Given the description of an element on the screen output the (x, y) to click on. 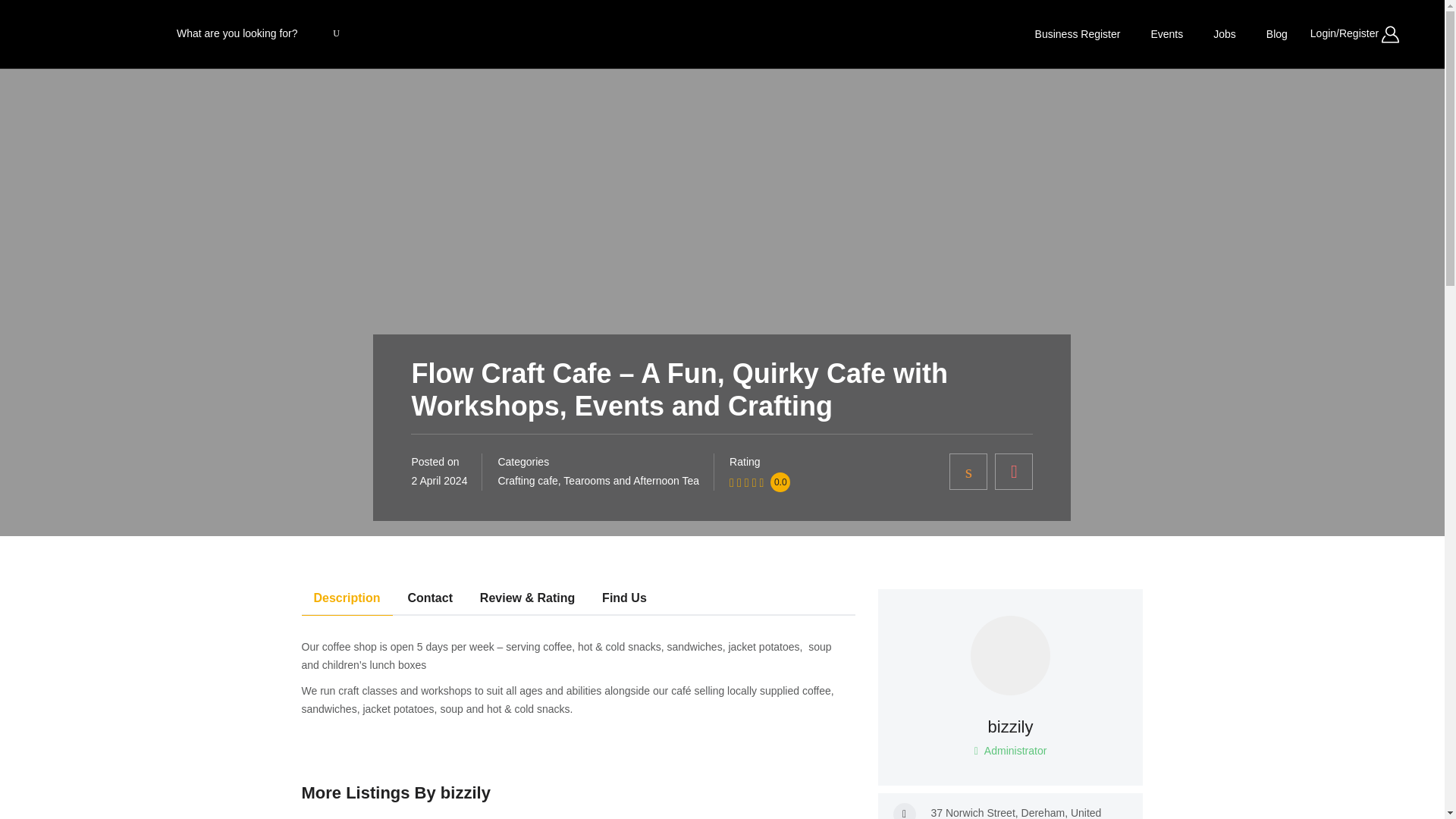
Events (1166, 33)
Business Register (1077, 33)
Description (347, 601)
Crafting cafe (527, 480)
Tearooms and Afternoon Tea (630, 480)
Contact (429, 601)
Find Us (624, 601)
